Given the description of an element on the screen output the (x, y) to click on. 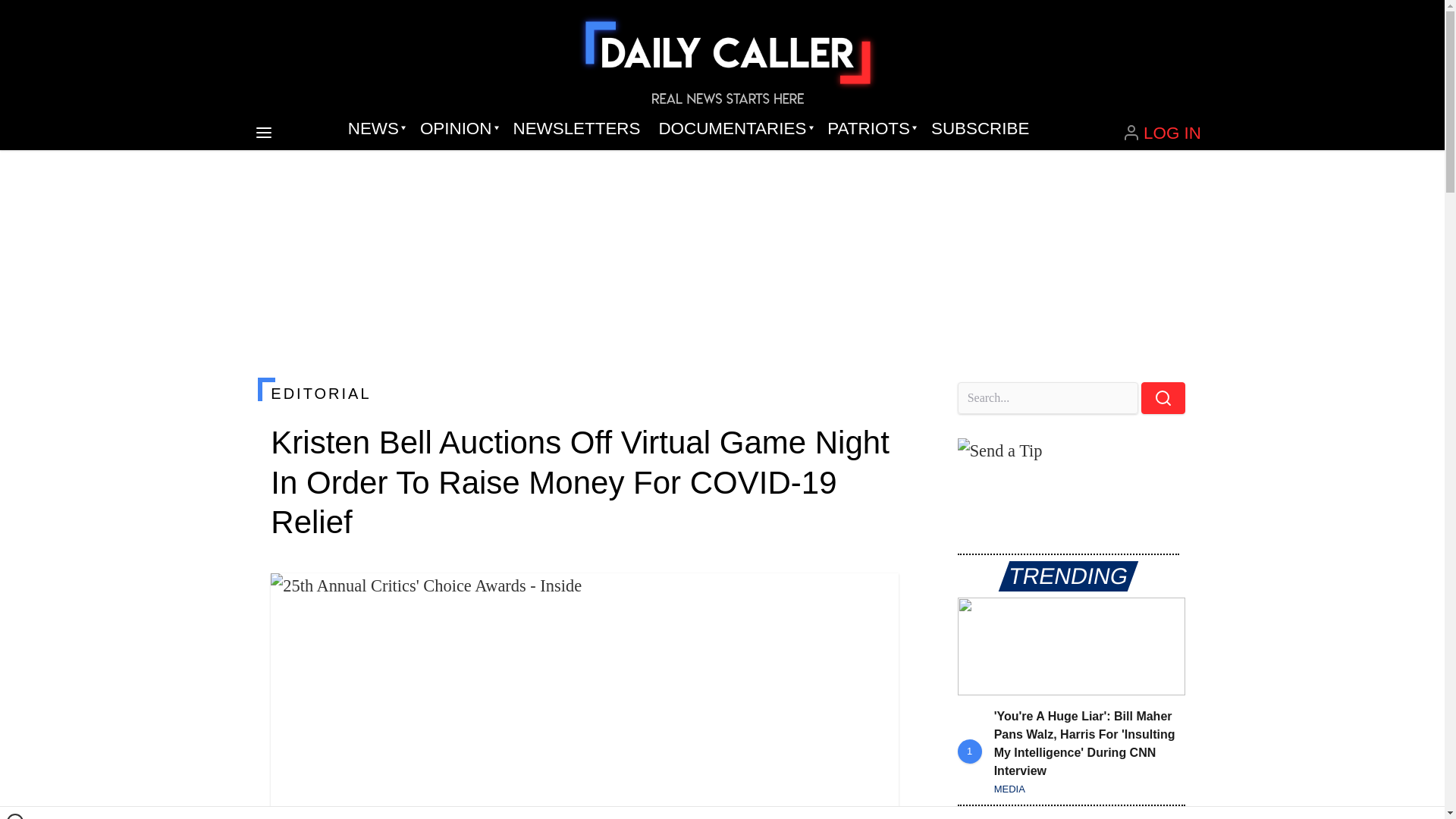
Toggle fullscreen (874, 596)
EDITORIAL (584, 393)
NEWS (374, 128)
SUBSCRIBE (979, 128)
Close window (14, 816)
NEWSLETTERS (576, 128)
PATRIOTS (869, 128)
OPINION (456, 128)
